Given the description of an element on the screen output the (x, y) to click on. 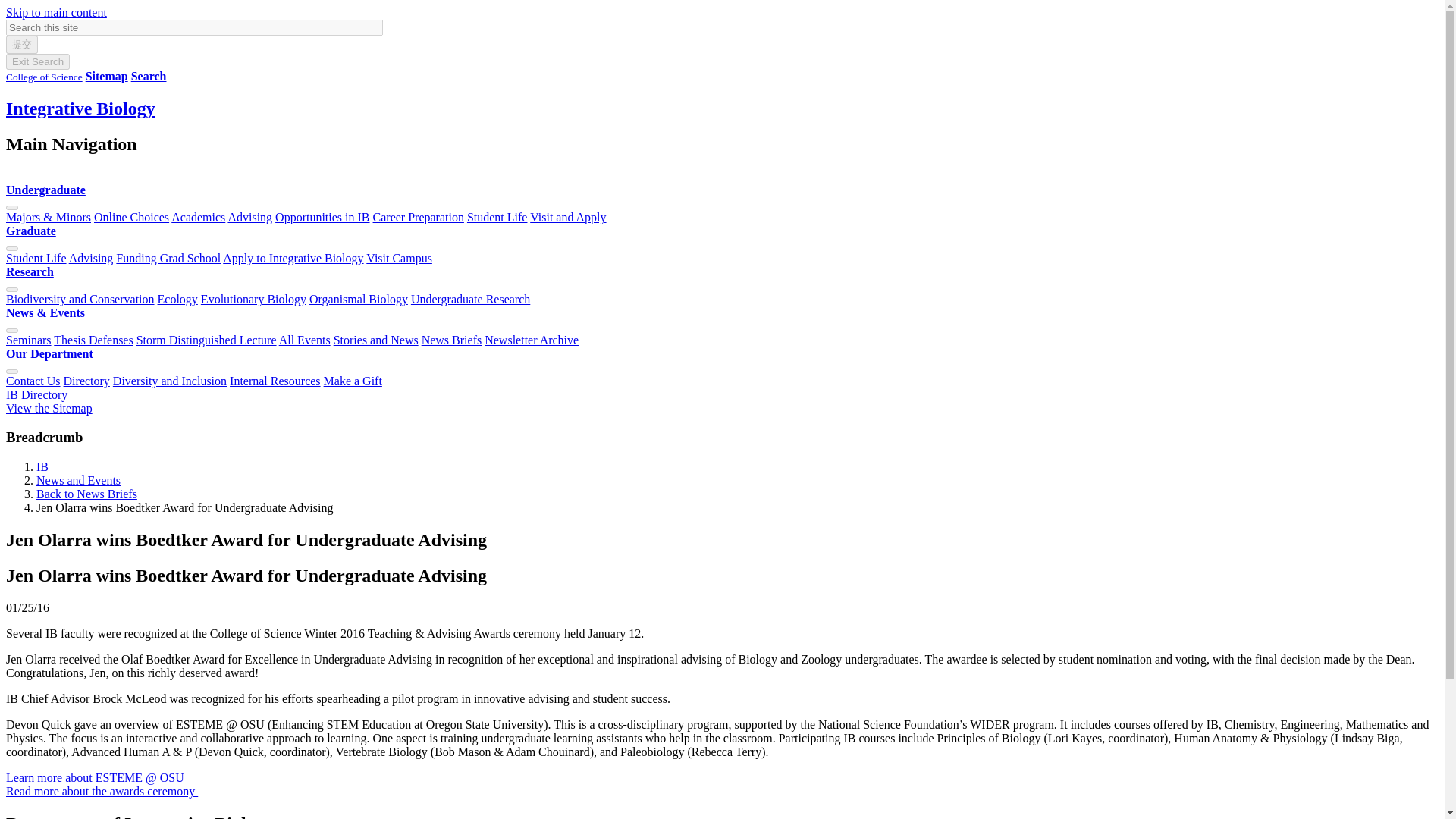
Student Life (497, 216)
College of Science (43, 75)
Undergraduate Research (469, 298)
Opportunities in IB (322, 216)
All Events (304, 339)
Evolutionary Biology (252, 298)
Search (149, 75)
Integrative Biology (80, 107)
Academics (198, 216)
Sitemap (106, 75)
Thesis Defenses (92, 339)
Online Choices (131, 216)
Student Life (35, 257)
Apply to Integrative Biology (292, 257)
Advising (249, 216)
